Given the description of an element on the screen output the (x, y) to click on. 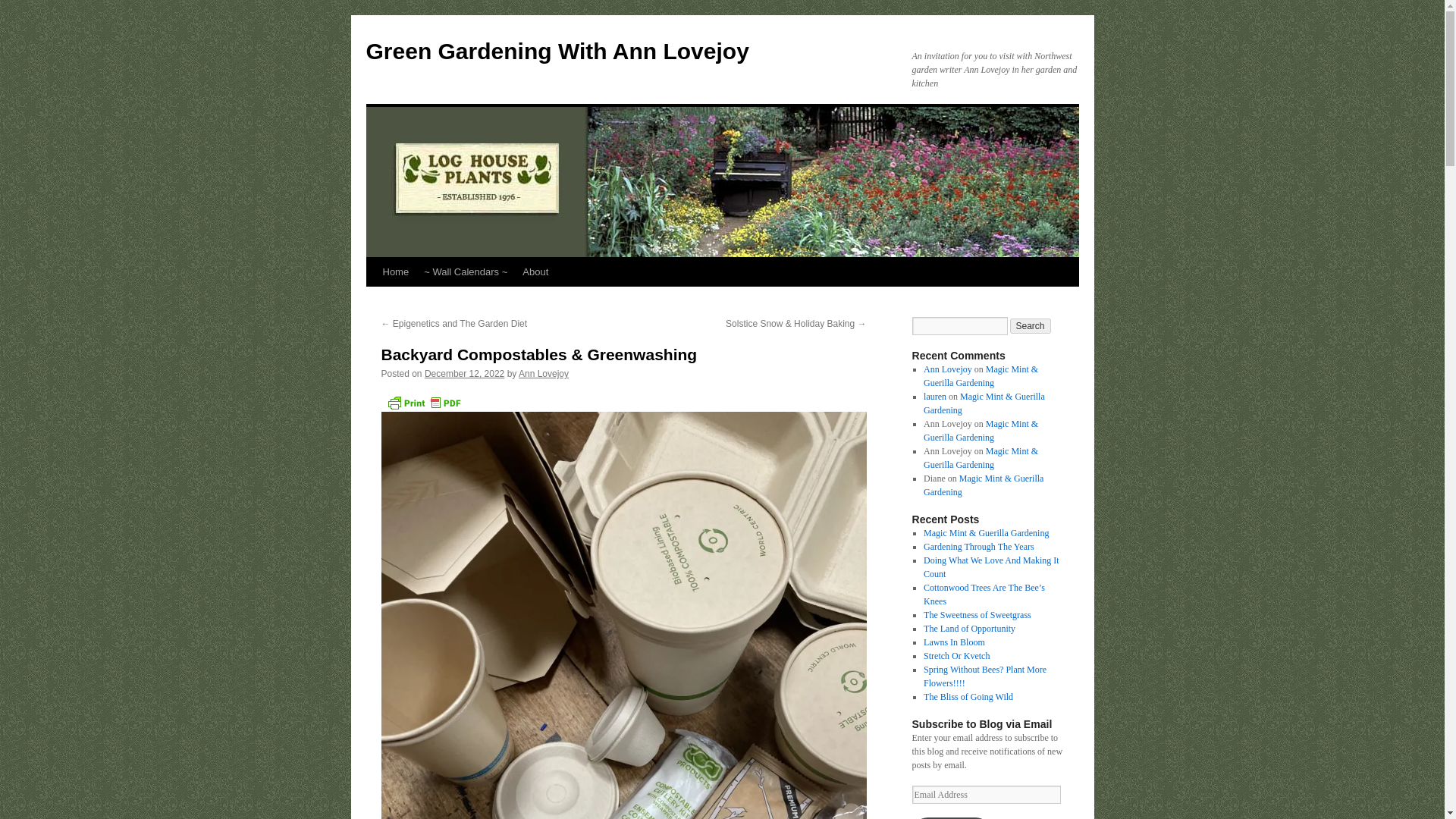
Green Gardening With Ann Lovejoy (556, 50)
6:23 pm (464, 373)
December 12, 2022 (464, 373)
Search (1030, 325)
Search (1030, 325)
Ann Lovejoy (947, 368)
Ann Lovejoy (543, 373)
View all posts by Ann Lovejoy (543, 373)
Home (395, 271)
lauren (934, 396)
